Given the description of an element on the screen output the (x, y) to click on. 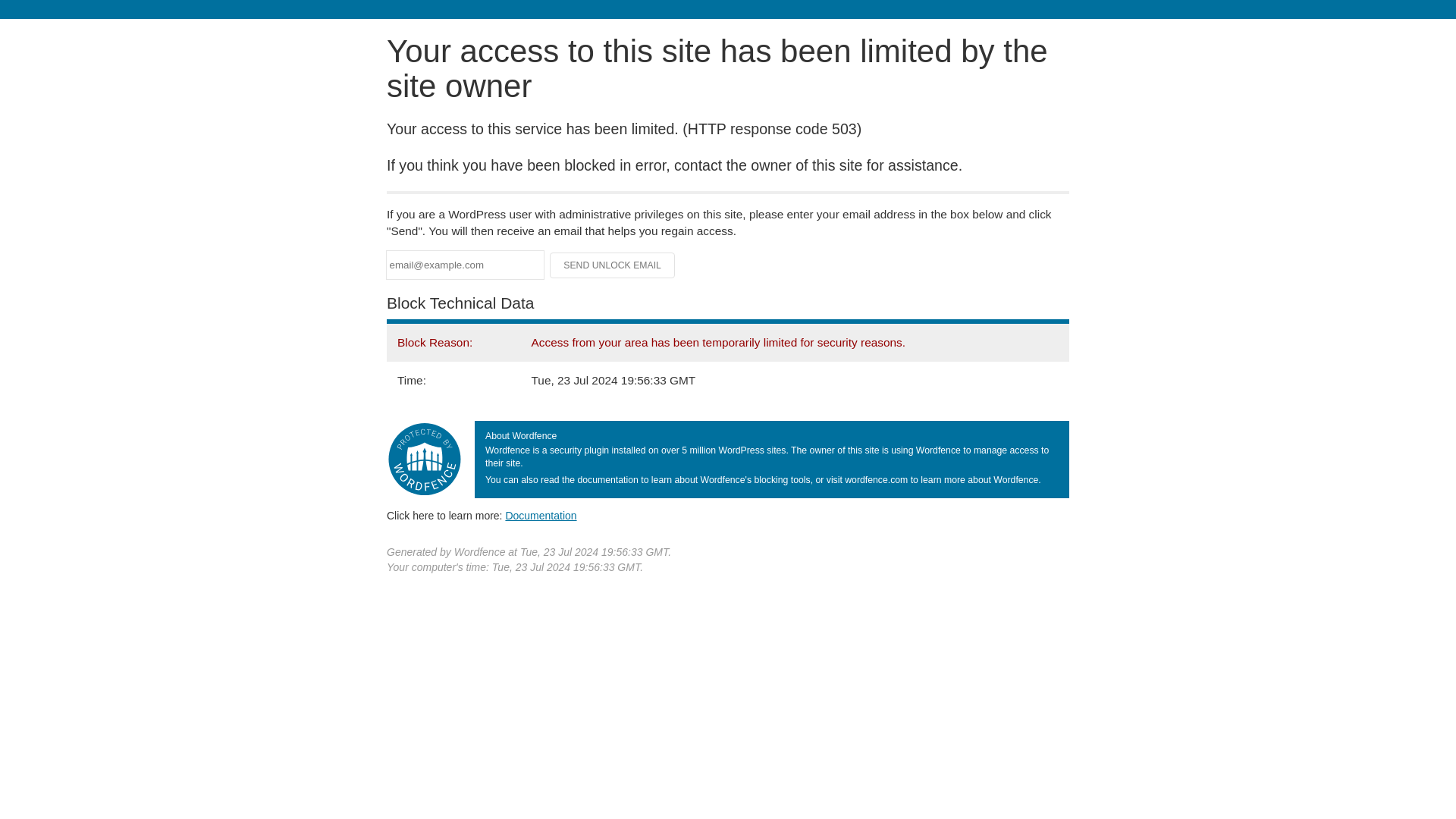
Send Unlock Email (612, 265)
Documentation (540, 515)
Send Unlock Email (612, 265)
